Given the description of an element on the screen output the (x, y) to click on. 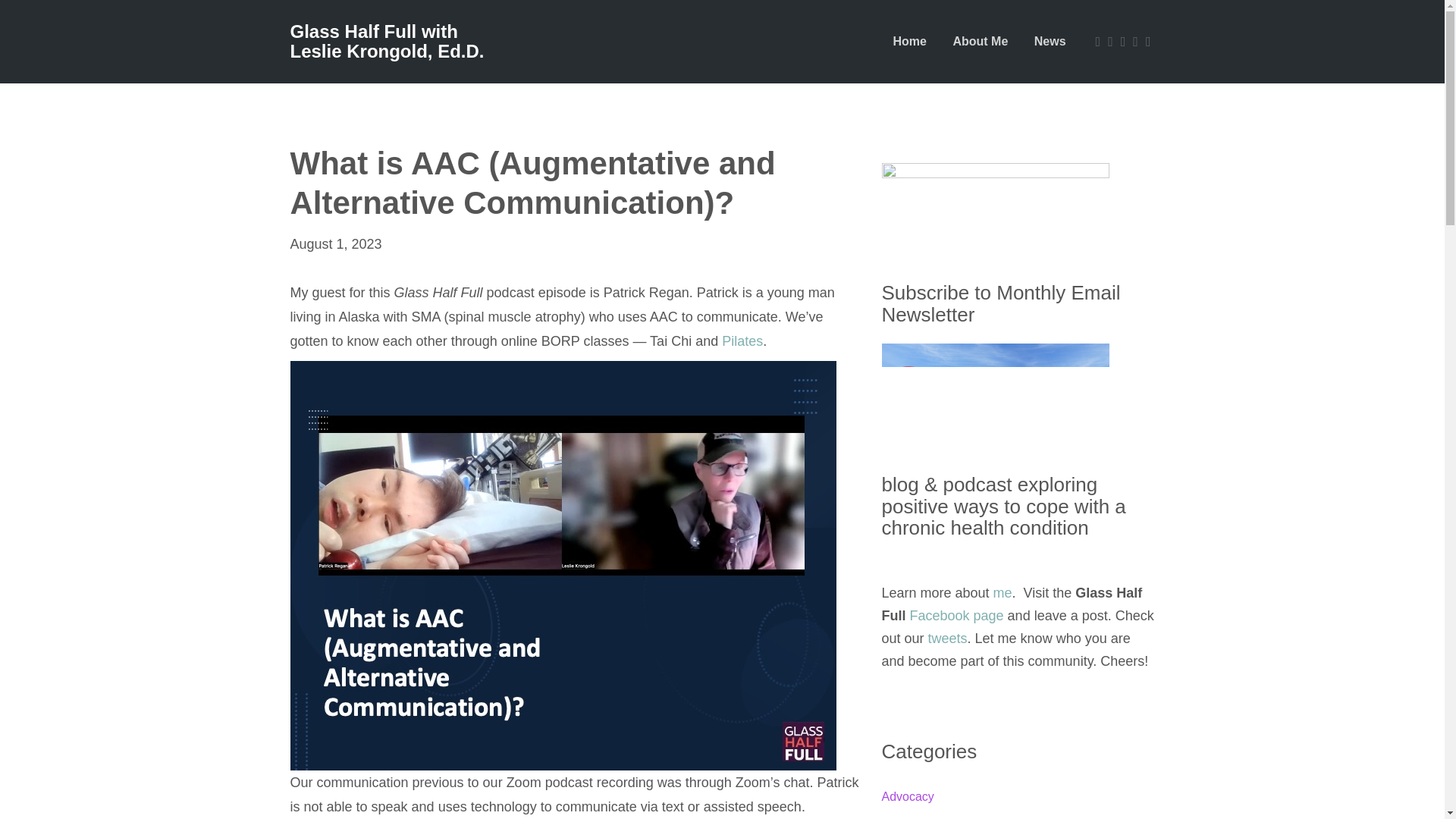
Pilates (742, 340)
Aging (896, 812)
Glass Half Full with Leslie Krongold, Ed.D. (389, 47)
About Me (979, 41)
Facebook page (957, 615)
Advocacy (906, 796)
me (1001, 592)
tweets (948, 638)
Glass Half Full with Leslie Krongold, Ed.D. (389, 47)
